Given the description of an element on the screen output the (x, y) to click on. 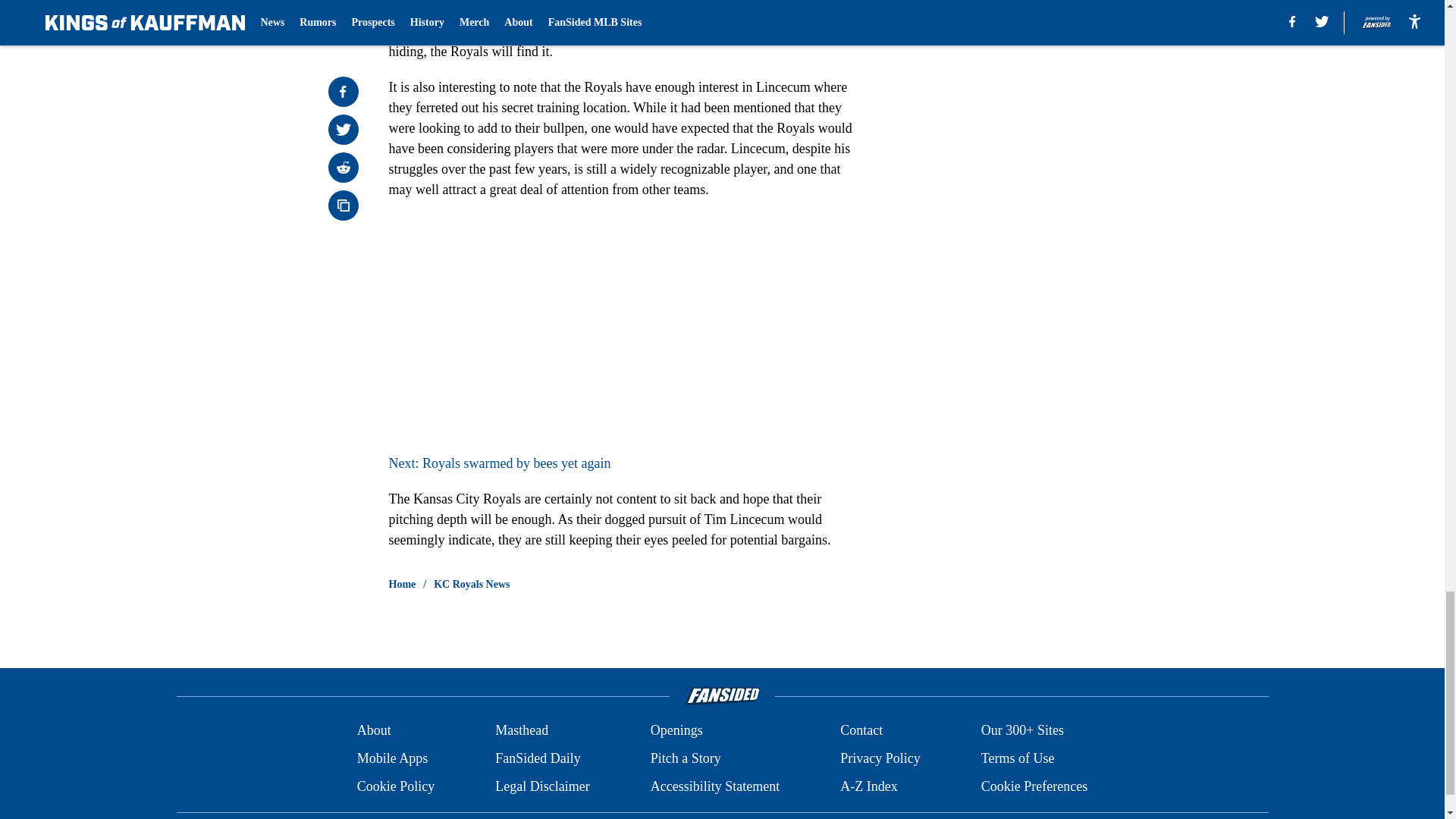
Home (401, 584)
Jose Martinez (508, 30)
Next: Royals swarmed by bees yet again (499, 462)
KC Royals News (471, 584)
Masthead (521, 730)
Balbino Fuenmayor (626, 30)
About (373, 730)
